Given the description of an element on the screen output the (x, y) to click on. 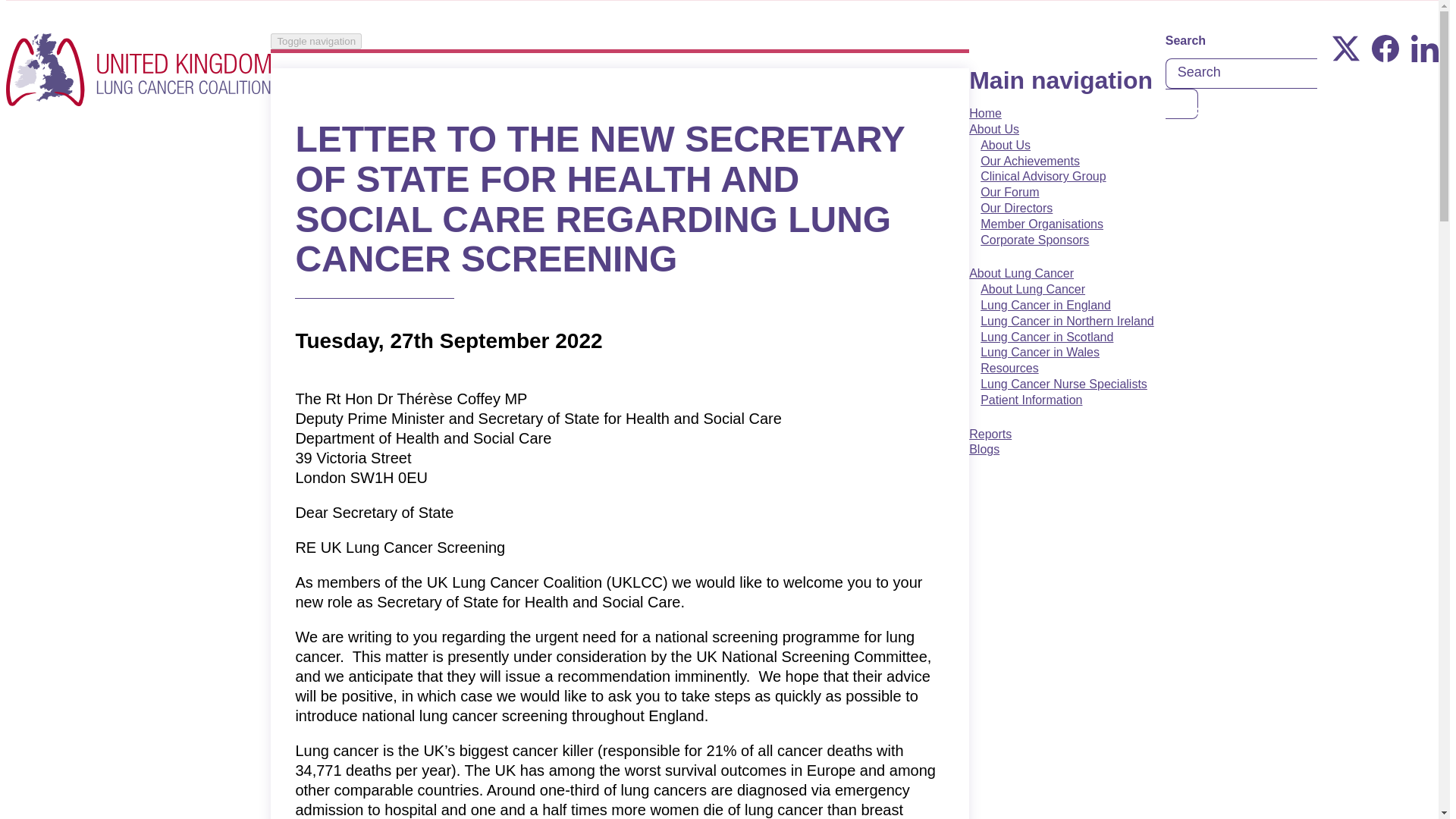
Lung Cancer in Wales (1039, 352)
Lung Cancer Nurse Specialists (1063, 384)
Toggle navigation (315, 41)
Search (1182, 103)
Lung Cancer in England (1045, 304)
About Lung Cancer (1021, 280)
Enter the terms you wish to search for. (1241, 73)
Lung Cancer in Northern Ireland (1067, 321)
About Us (1005, 144)
